Given the description of an element on the screen output the (x, y) to click on. 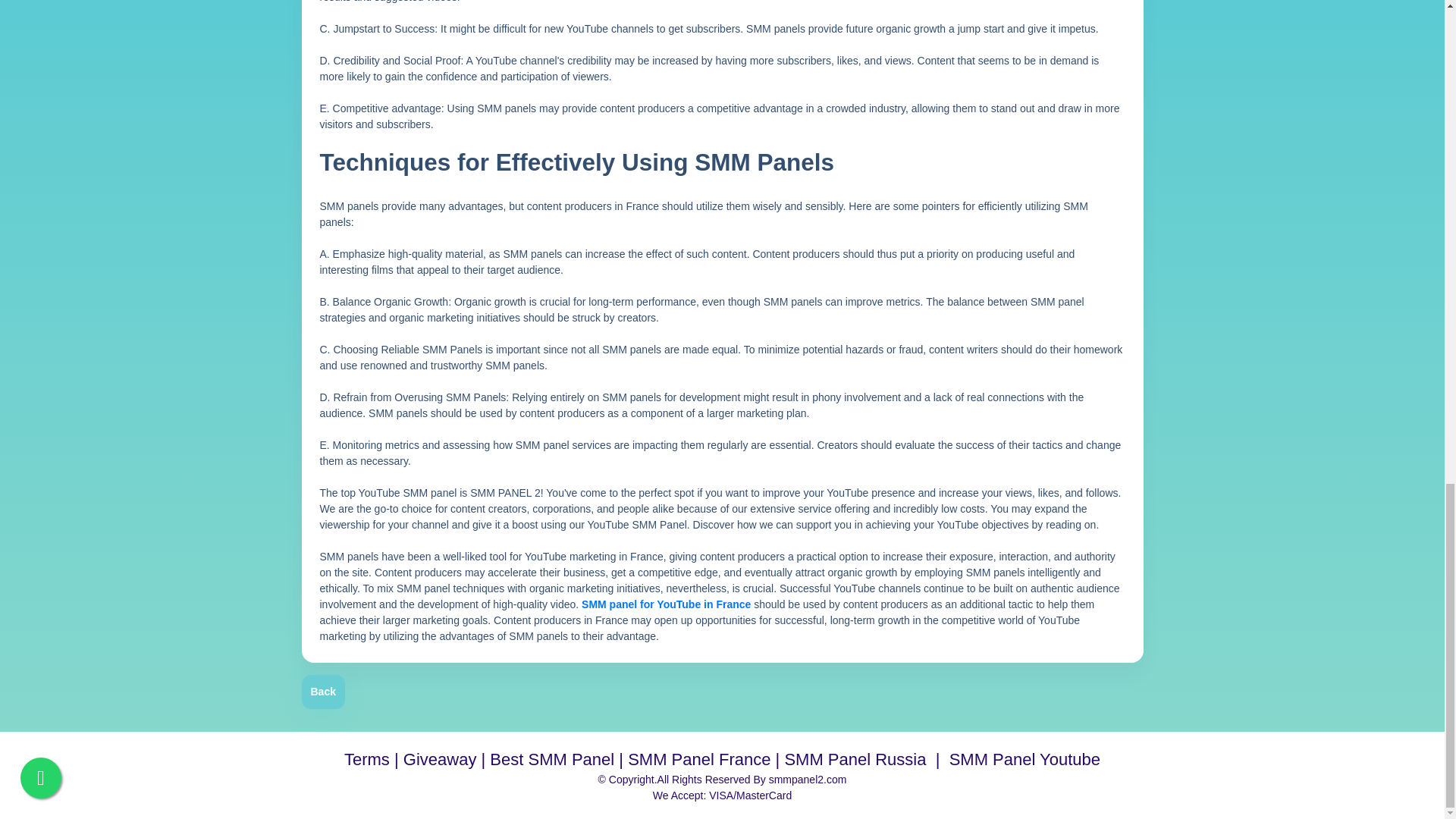
SMM Panel Youtube (1024, 761)
SMM panel for YouTube in France (665, 604)
Back (323, 691)
Terms (366, 761)
SMM Panel Russia (855, 761)
Giveaway (440, 761)
Best SMM Panel (551, 761)
SMM Panel France (698, 761)
